Given the description of an element on the screen output the (x, y) to click on. 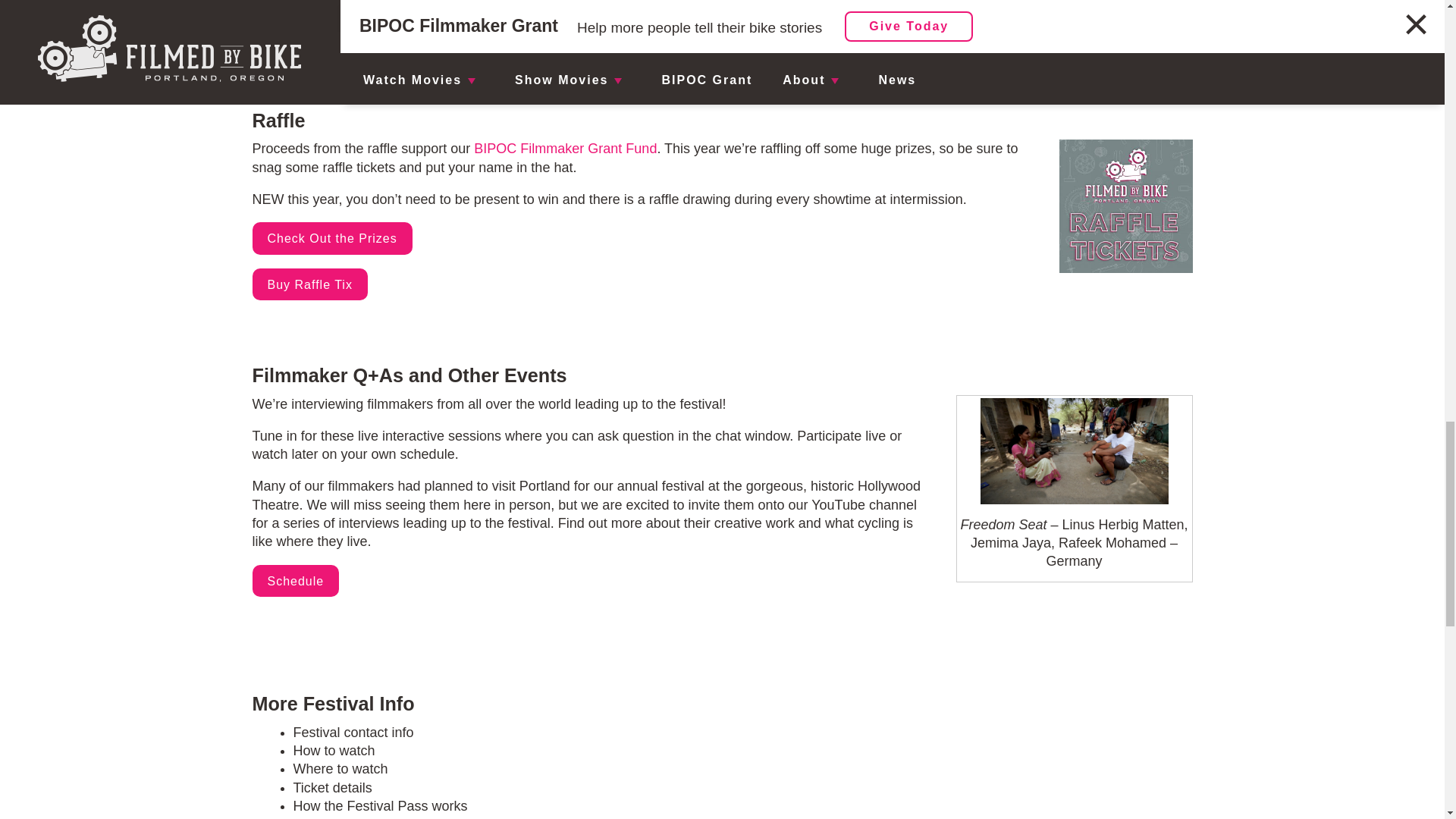
Buy Individual Tickets (332, 29)
Check Out the Prizes (331, 237)
Schedule (295, 581)
BIPOC Filmmaker Grant Fund (565, 148)
Buy Raffle Tix (308, 284)
